Given the description of an element on the screen output the (x, y) to click on. 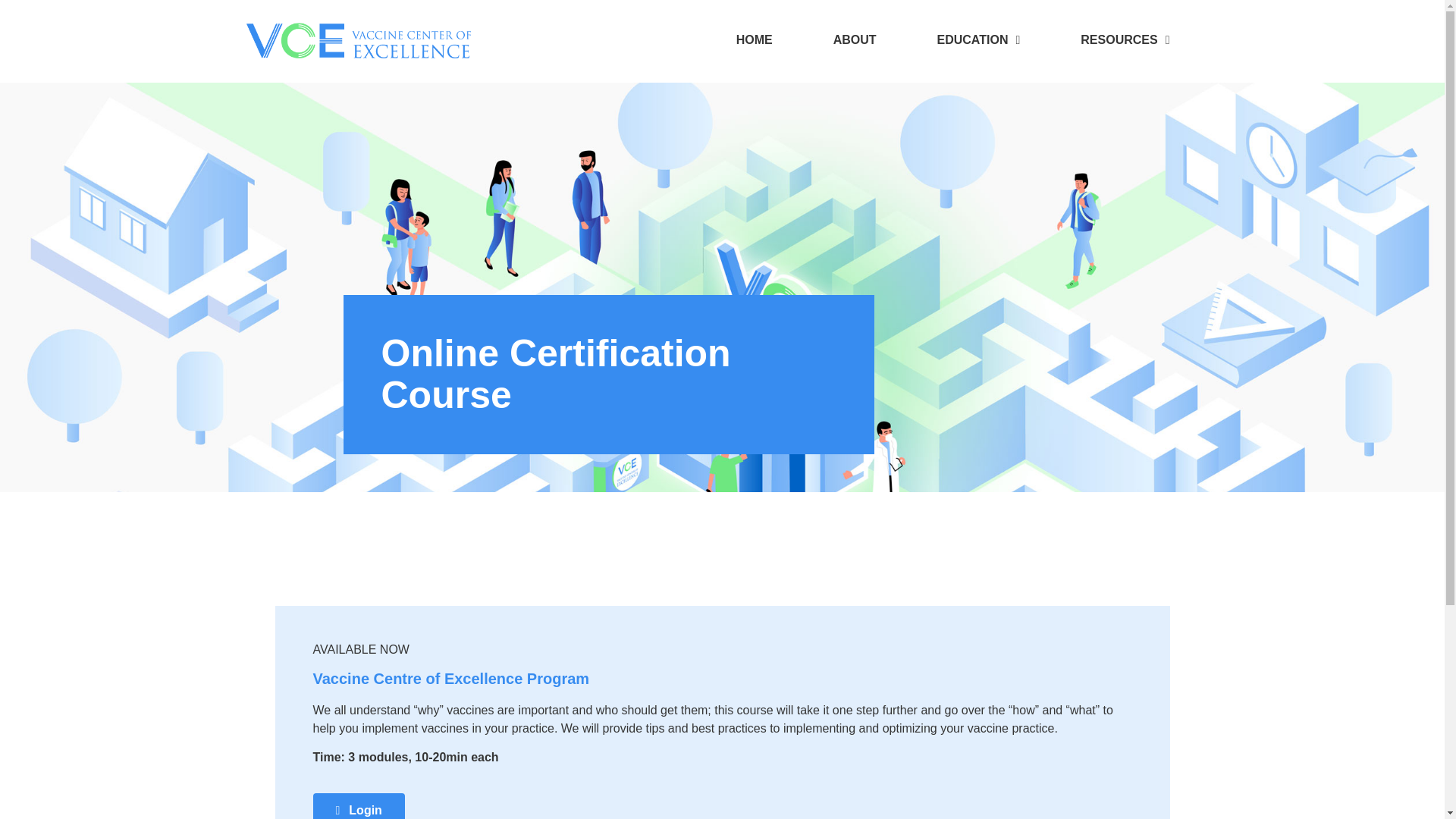
RESOURCES (1124, 39)
HOME (754, 39)
EDUCATION (979, 39)
ABOUT (855, 39)
